Given the description of an element on the screen output the (x, y) to click on. 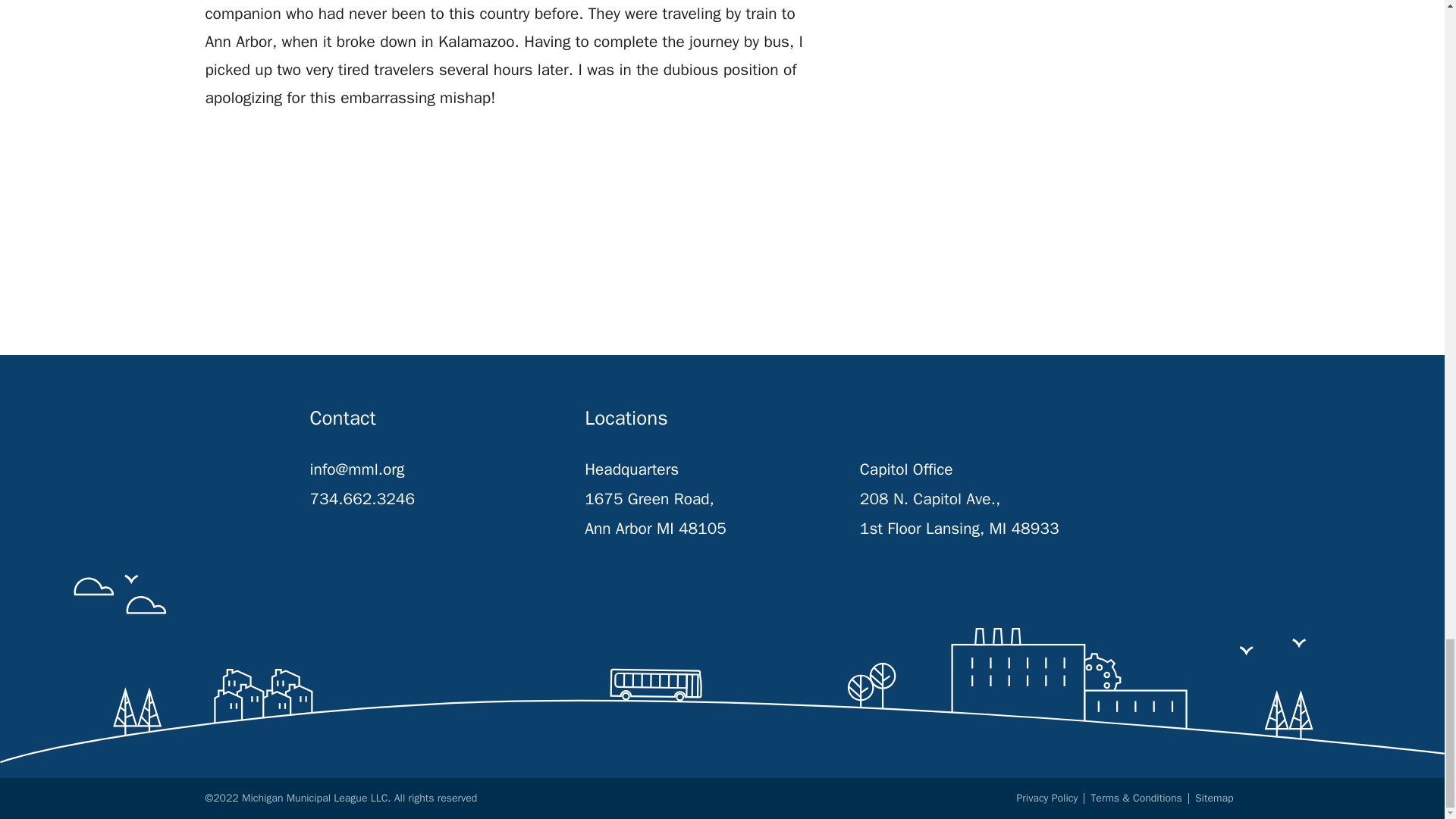
Sitemap (1214, 797)
734.662.3246 (361, 499)
Privacy Policy (1047, 797)
